Given the description of an element on the screen output the (x, y) to click on. 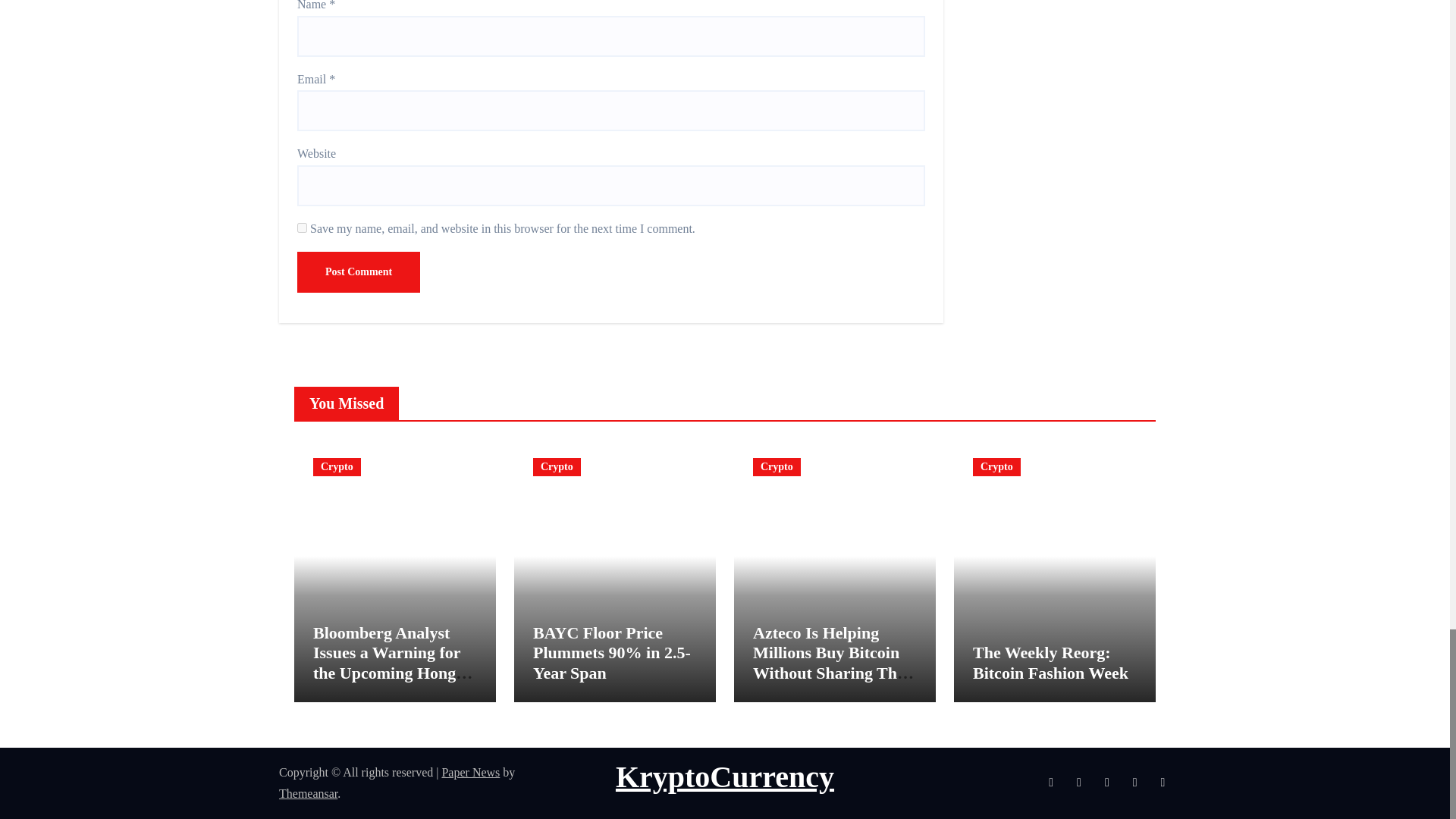
yes (302, 227)
Permalink to: The Weekly Reorg: Bitcoin Fashion Week (1050, 661)
Post Comment (358, 271)
